Given the description of an element on the screen output the (x, y) to click on. 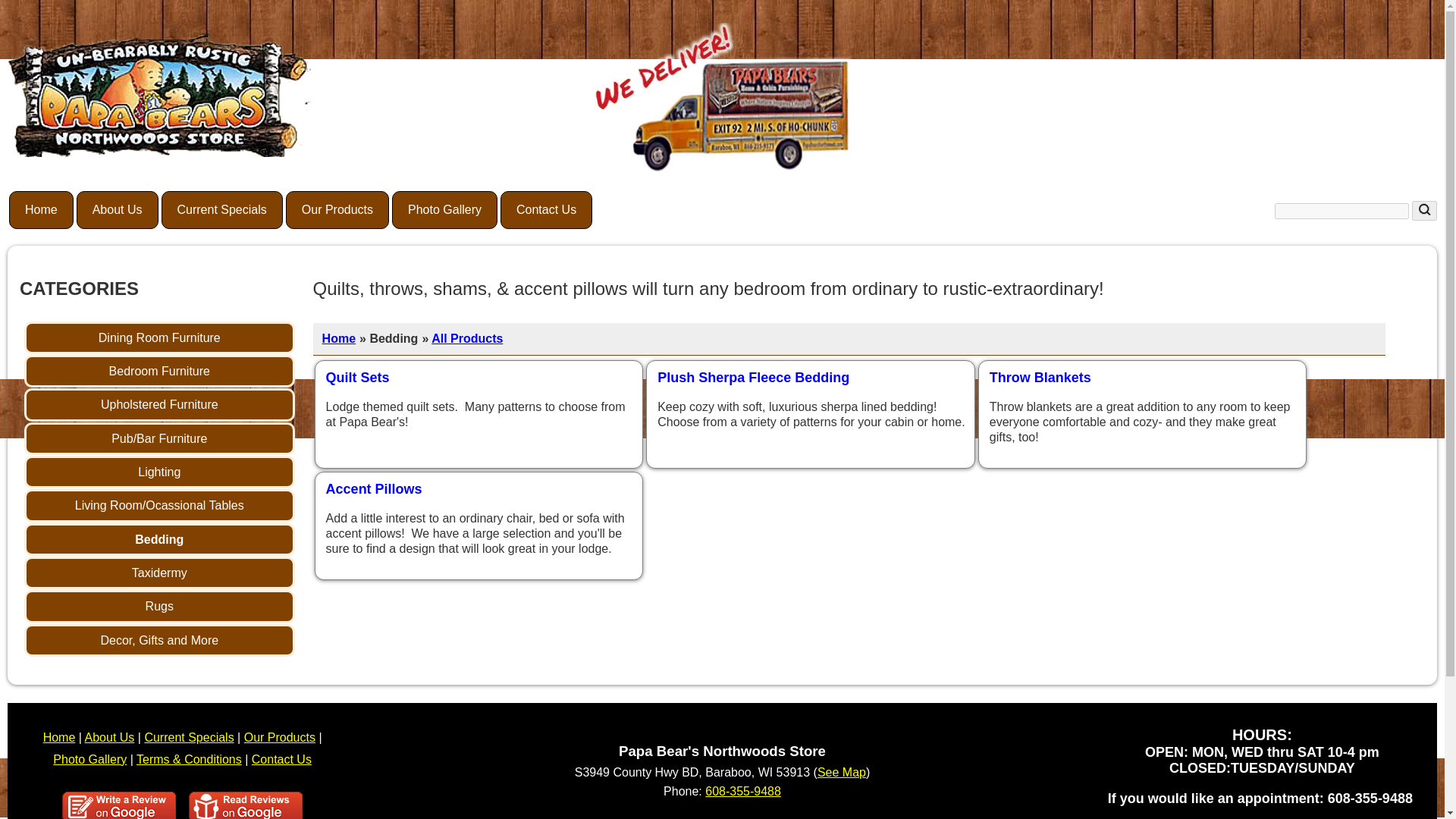
Contact Us (546, 209)
Photo Gallery (444, 209)
Lighting (159, 471)
Bedding (159, 539)
Upholstered Furniture (159, 404)
Current Specials (221, 209)
Bedroom Furniture (159, 370)
Taxidermy (159, 572)
Rugs (159, 605)
Our Products (336, 209)
